Given the description of an element on the screen output the (x, y) to click on. 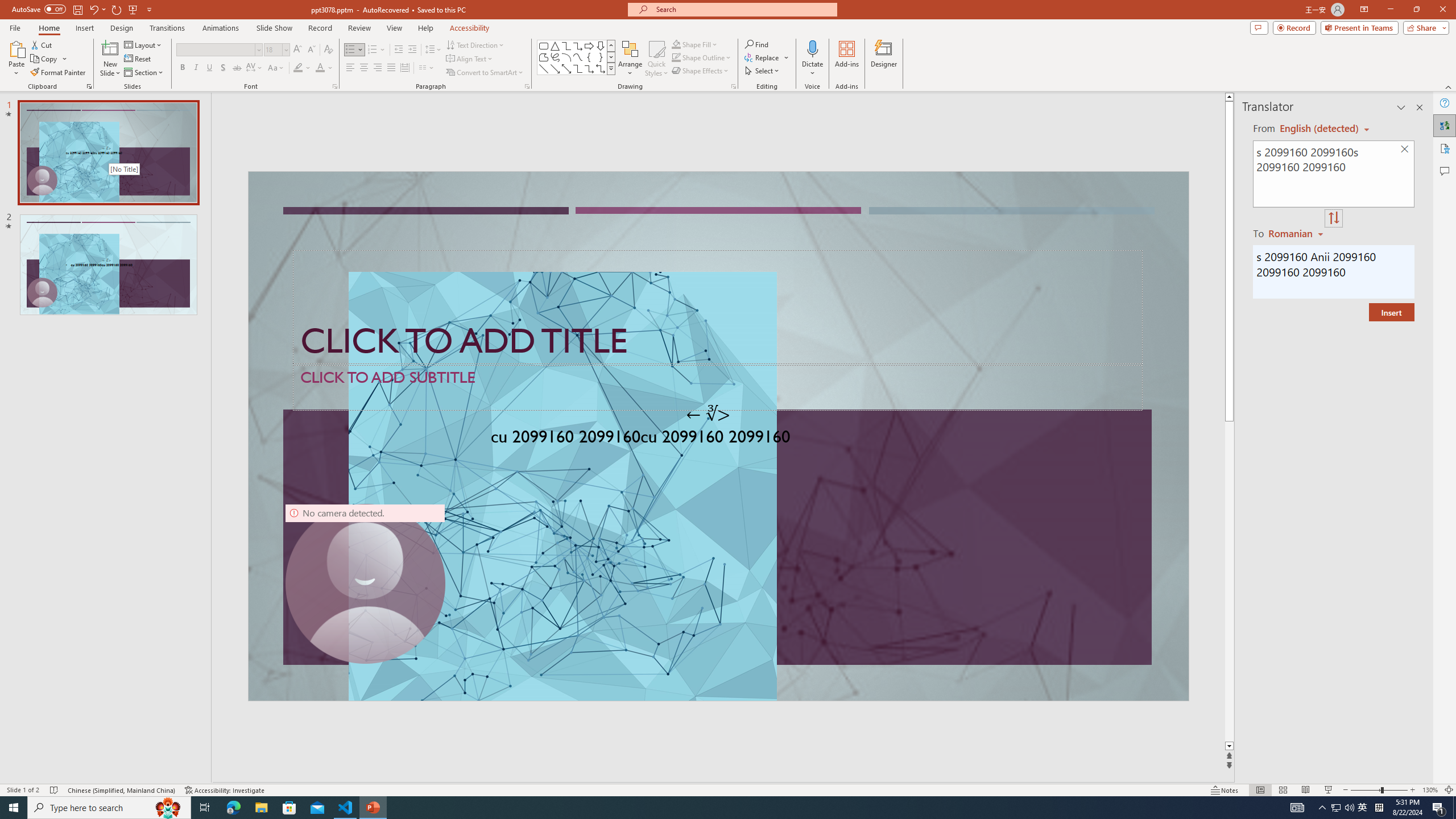
TextBox 61 (716, 438)
